Given the description of an element on the screen output the (x, y) to click on. 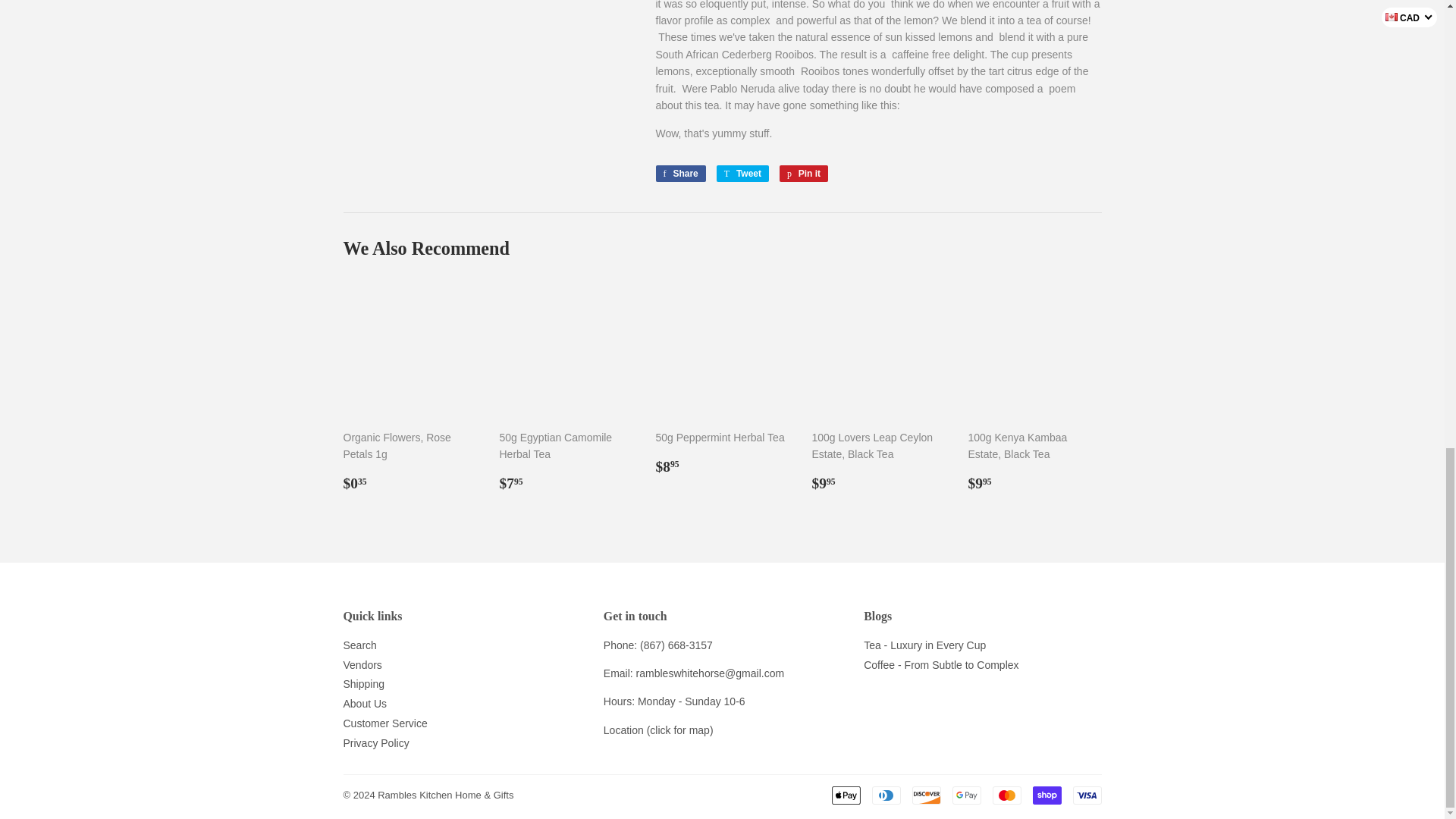
Pin on Pinterest (803, 173)
Diners Club (886, 795)
Mastercard (1005, 795)
Google Pay (966, 795)
Visa (1085, 795)
Discover (925, 795)
Apple Pay (845, 795)
Tweet on Twitter (742, 173)
Share on Facebook (679, 173)
Location (623, 729)
